Given the description of an element on the screen output the (x, y) to click on. 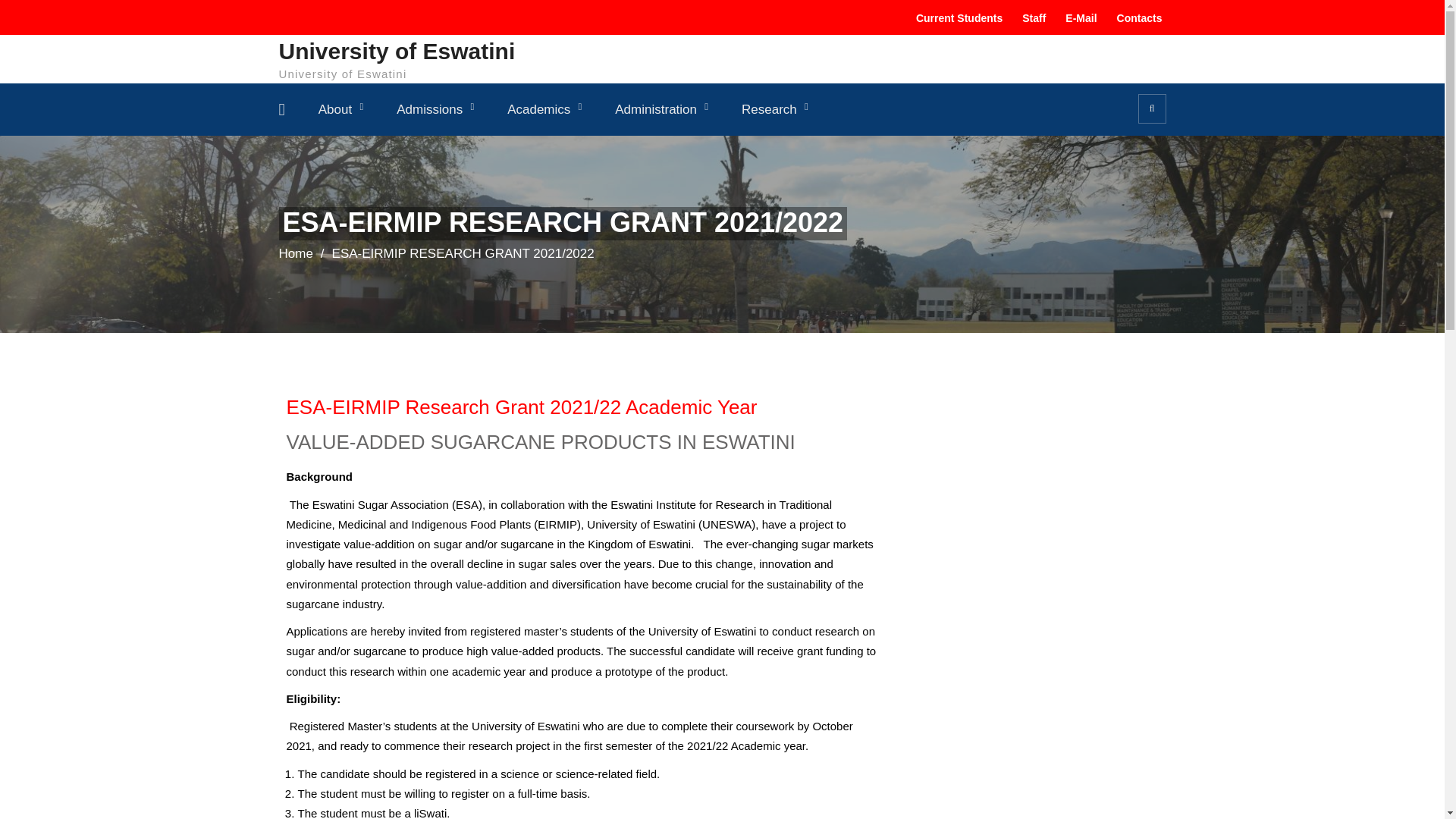
Contacts (1137, 18)
E-Mail (1078, 18)
Vision And Mission (386, 150)
Staff (1031, 18)
University of Eswatini (397, 50)
About (340, 109)
Current Students (956, 18)
